Given the description of an element on the screen output the (x, y) to click on. 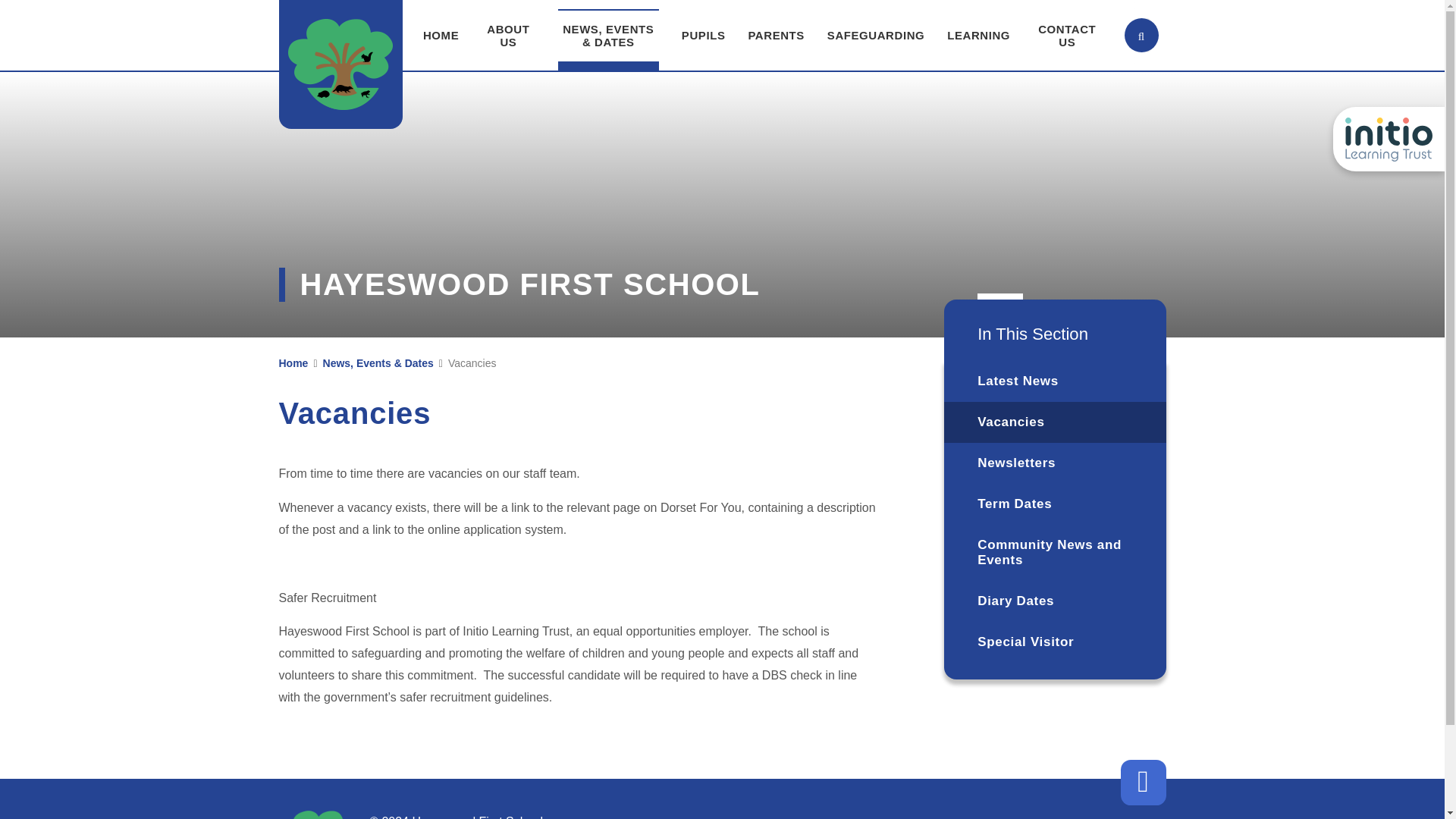
ABOUT US (508, 35)
